Given the description of an element on the screen output the (x, y) to click on. 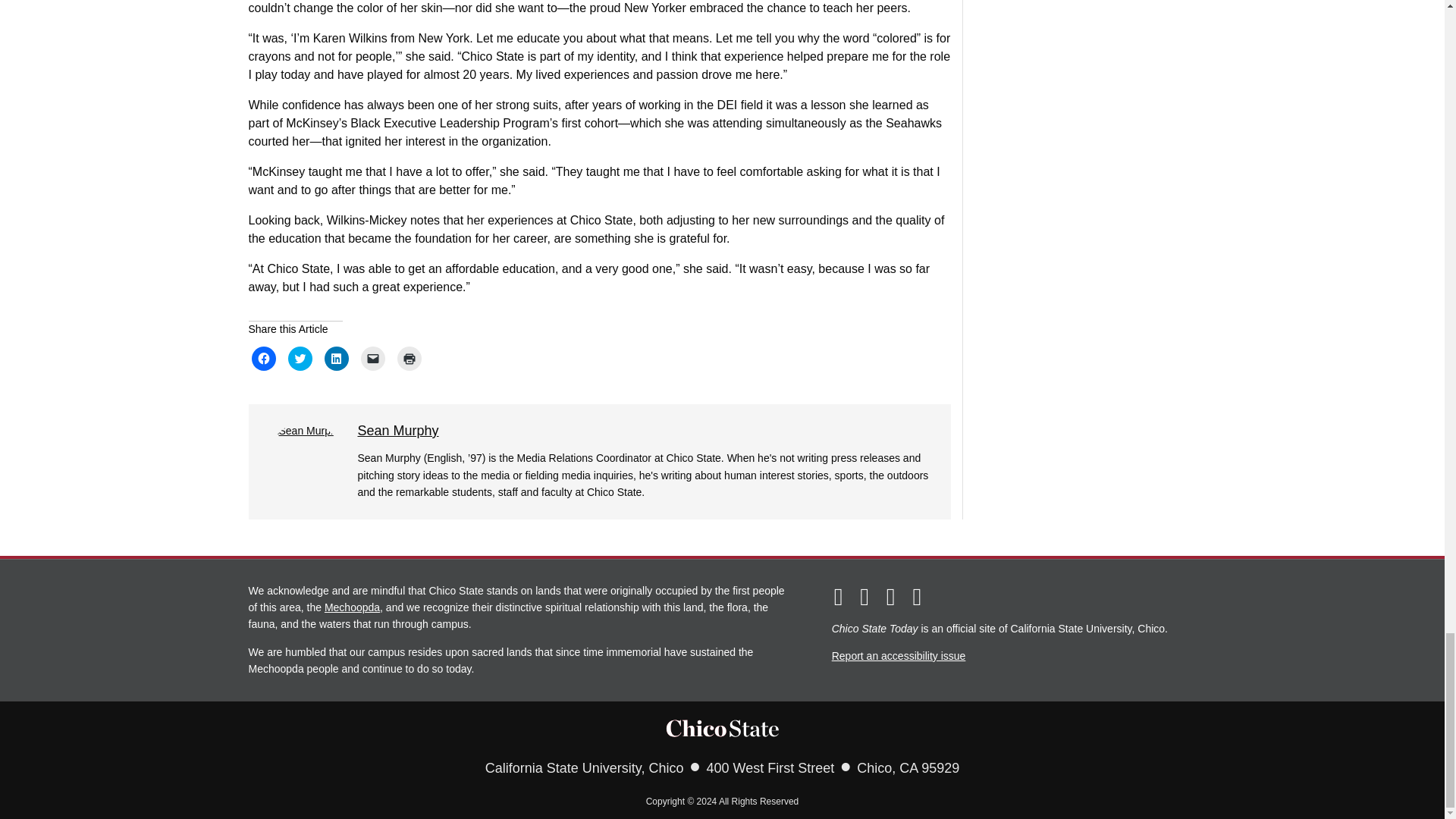
Click to share on Twitter (300, 358)
Click to print (409, 358)
Click to share on LinkedIn (336, 358)
Click to share on Facebook (263, 358)
Click to email a link to a friend (373, 358)
Sean Murphy (398, 430)
